Given the description of an element on the screen output the (x, y) to click on. 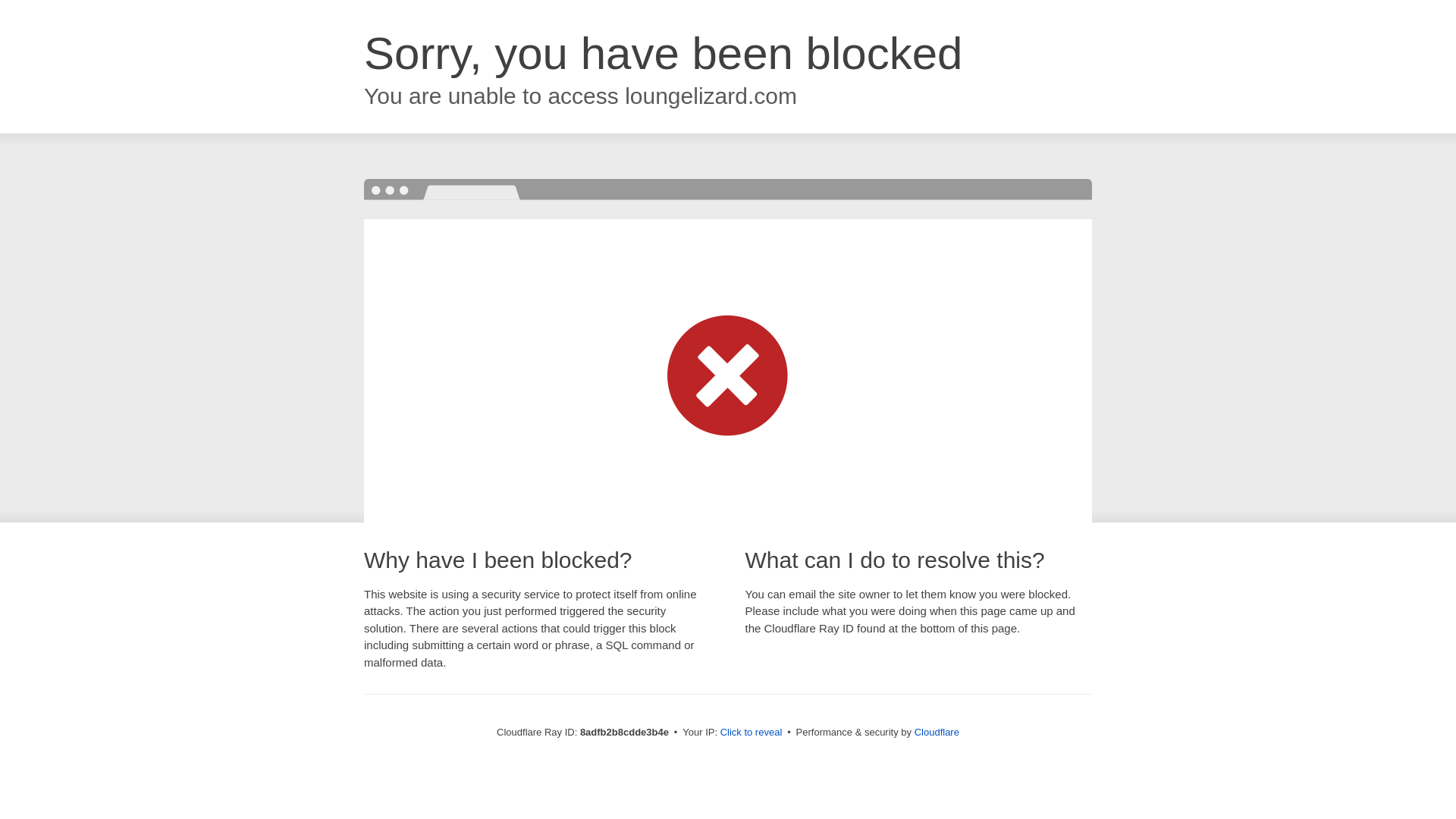
Cloudflare (936, 731)
Click to reveal (751, 732)
